Given the description of an element on the screen output the (x, y) to click on. 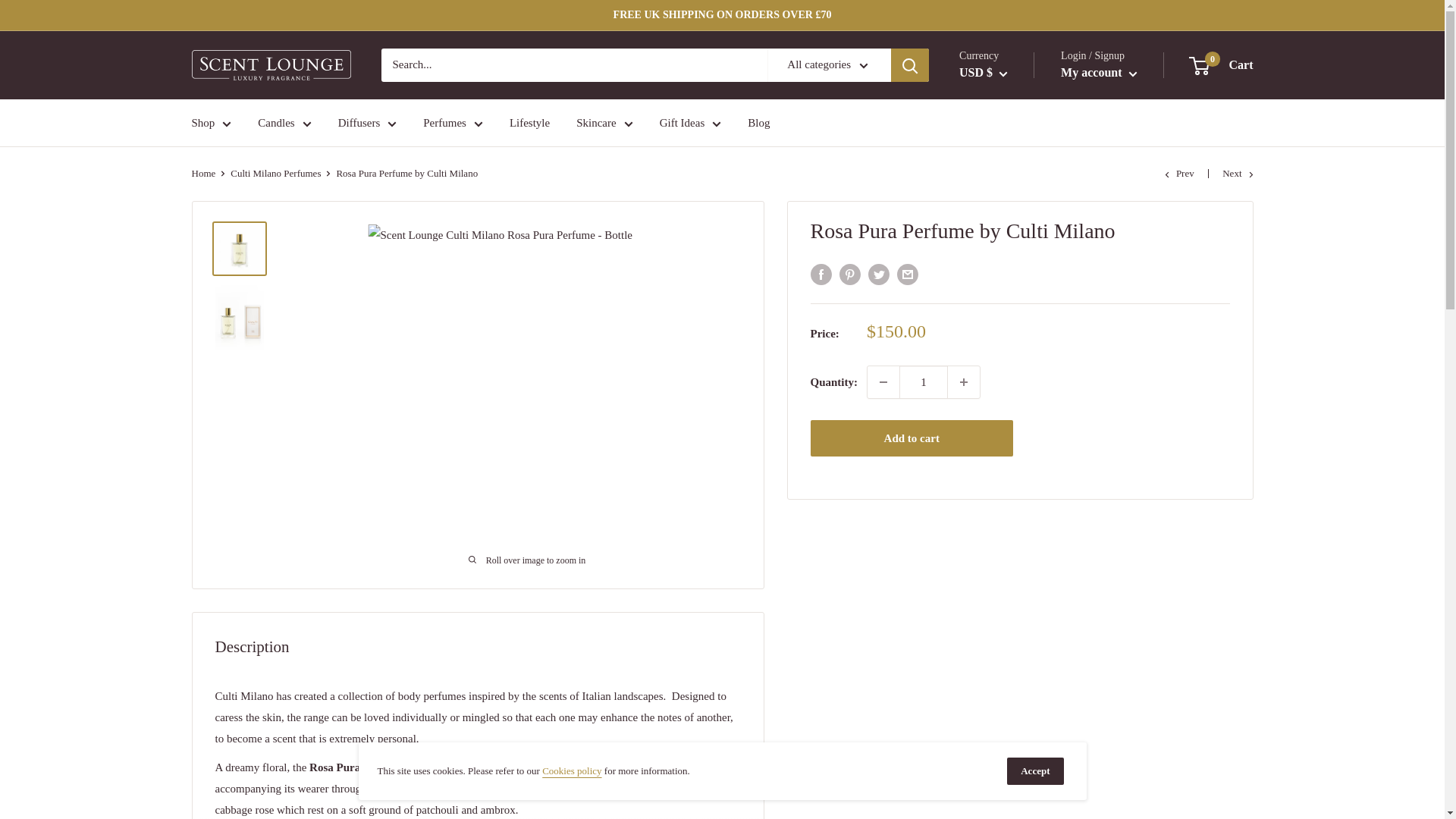
Increase quantity by 1 (963, 382)
1 (923, 382)
Decrease quantity by 1 (883, 382)
